Given the description of an element on the screen output the (x, y) to click on. 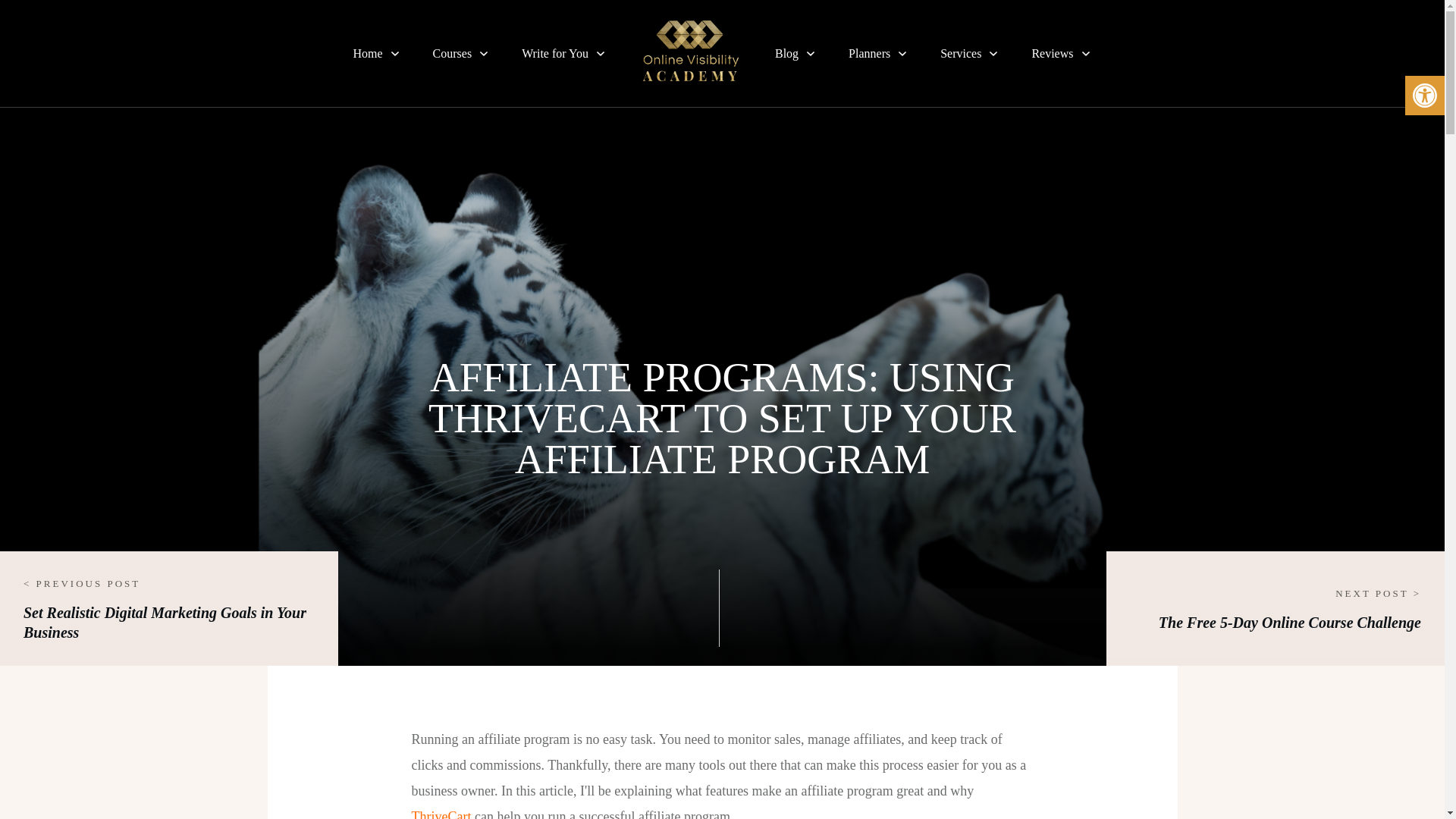
Blog (795, 52)
ThriveCart (440, 814)
Accessibility Tools (1424, 95)
Write for You (564, 52)
Courses (461, 52)
Home (376, 52)
